Given the description of an element on the screen output the (x, y) to click on. 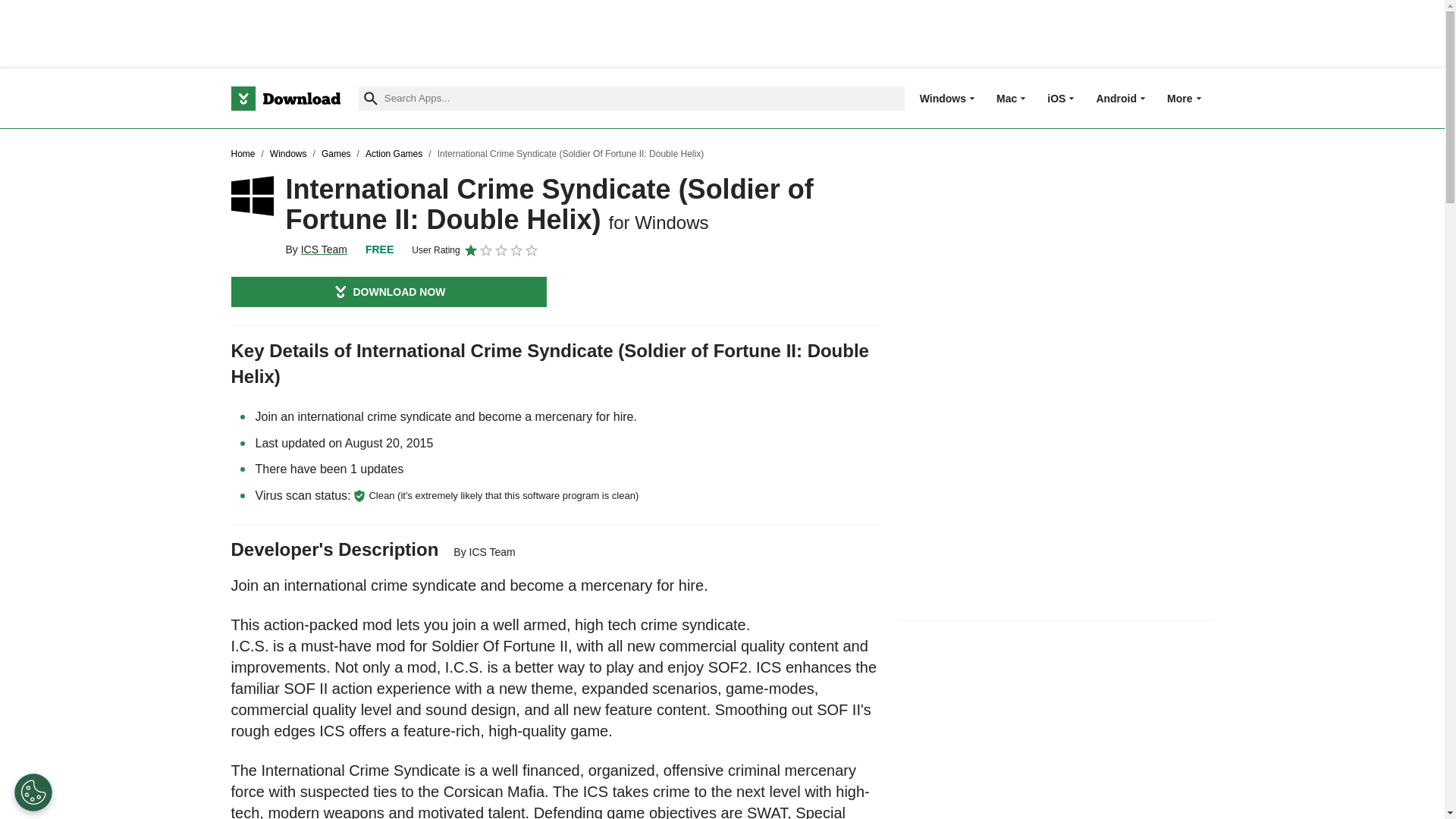
Windows (943, 97)
Mac (1005, 97)
